Given the description of an element on the screen output the (x, y) to click on. 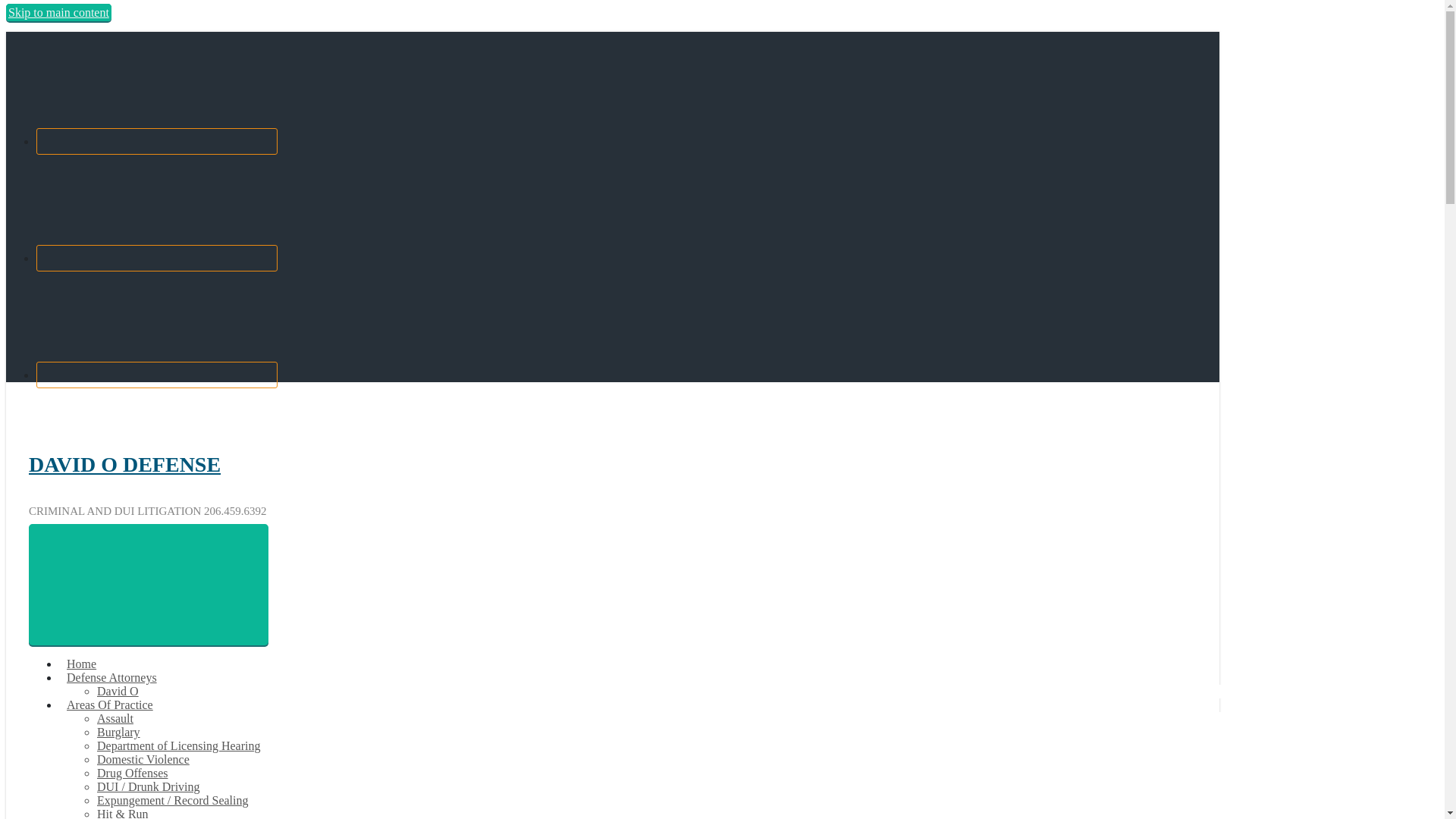
Burglary (118, 731)
David O (117, 690)
Drug Offenses (132, 772)
Domestic Violence (143, 758)
Department of Licensing Hearing (178, 745)
Defense Attorneys (111, 676)
LinkedIn (157, 374)
Home (81, 663)
Assault (115, 717)
DAVID O DEFENSE (125, 463)
Areas Of Practice (109, 704)
Facebook (157, 140)
Twitter (157, 257)
Skip to main content (58, 12)
